Given the description of an element on the screen output the (x, y) to click on. 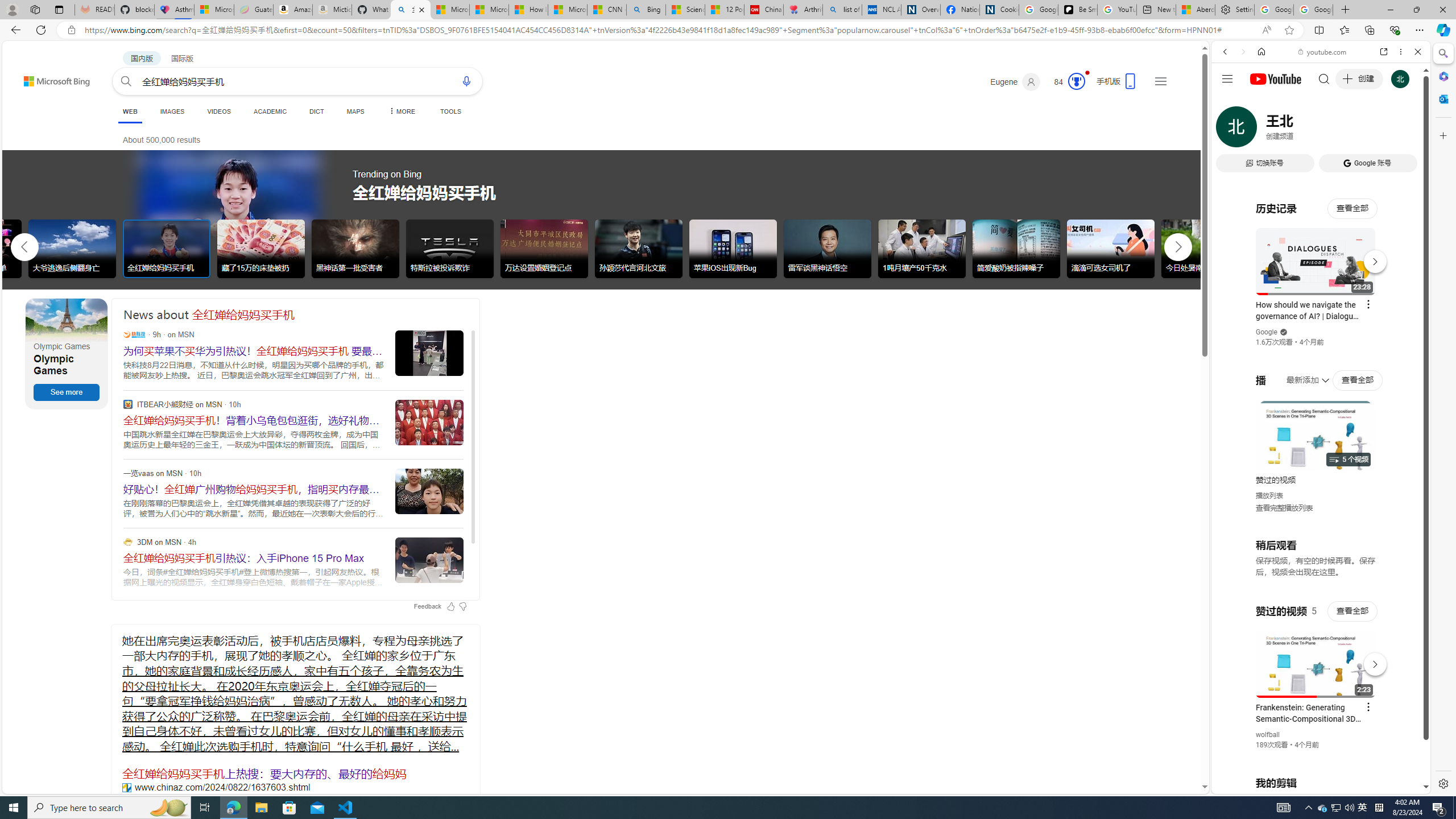
AutomationID: serp_medal_svg (1076, 81)
Science - MSN (685, 9)
This site scope (1259, 102)
Dropdown Menu (400, 111)
Bing (646, 9)
WEB (129, 112)
Class: dict_pnIcon rms_img (1312, 784)
